Given the description of an element on the screen output the (x, y) to click on. 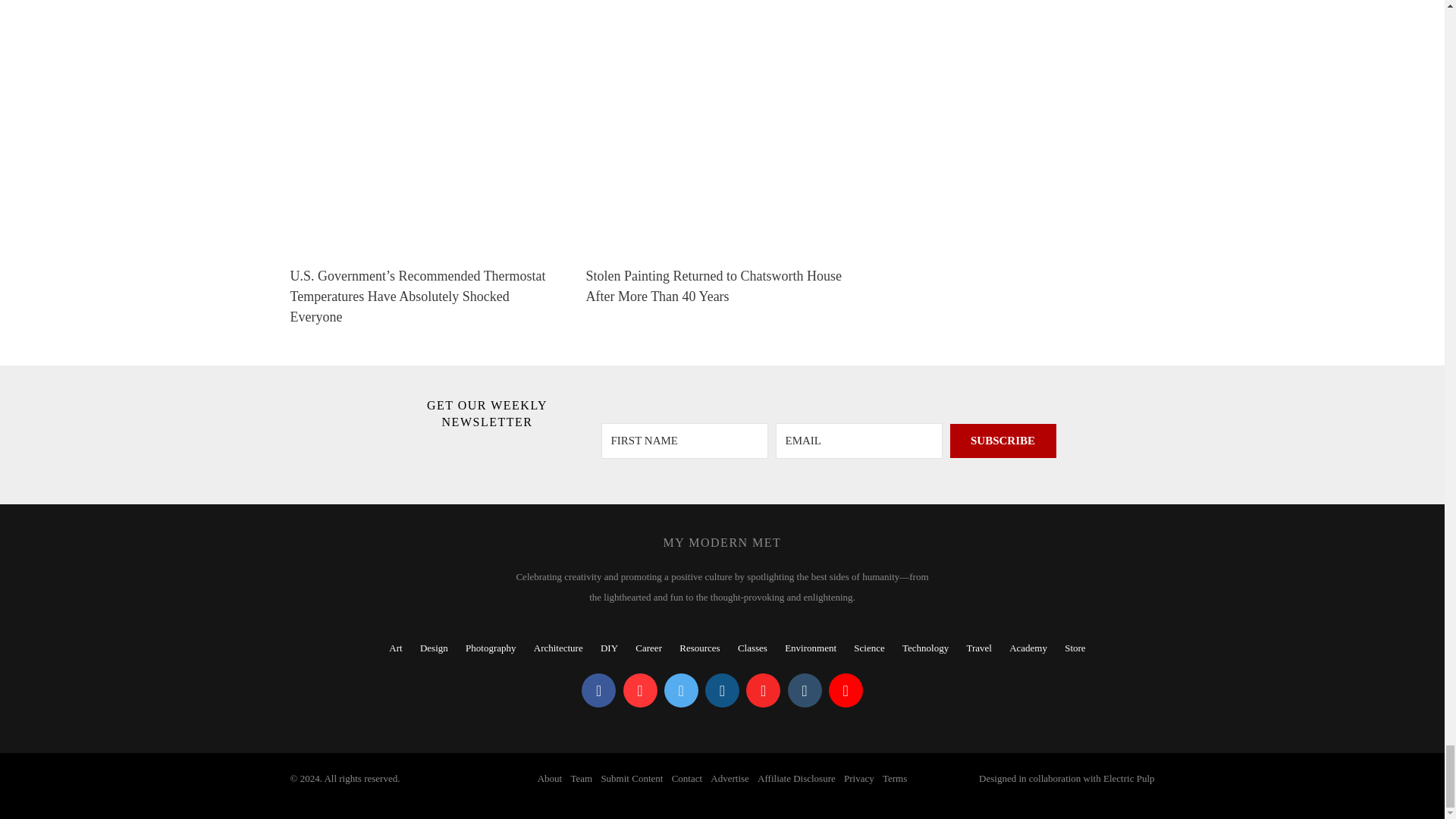
My Modern Met on Pinterest (640, 690)
My Modern Met on Tumblr (804, 690)
My Modern Met on Twitter (680, 690)
My Modern Met on Facebook (597, 690)
My Modern Met on Instagram (721, 690)
My Modern Met on YouTube (845, 690)
